Given the description of an element on the screen output the (x, y) to click on. 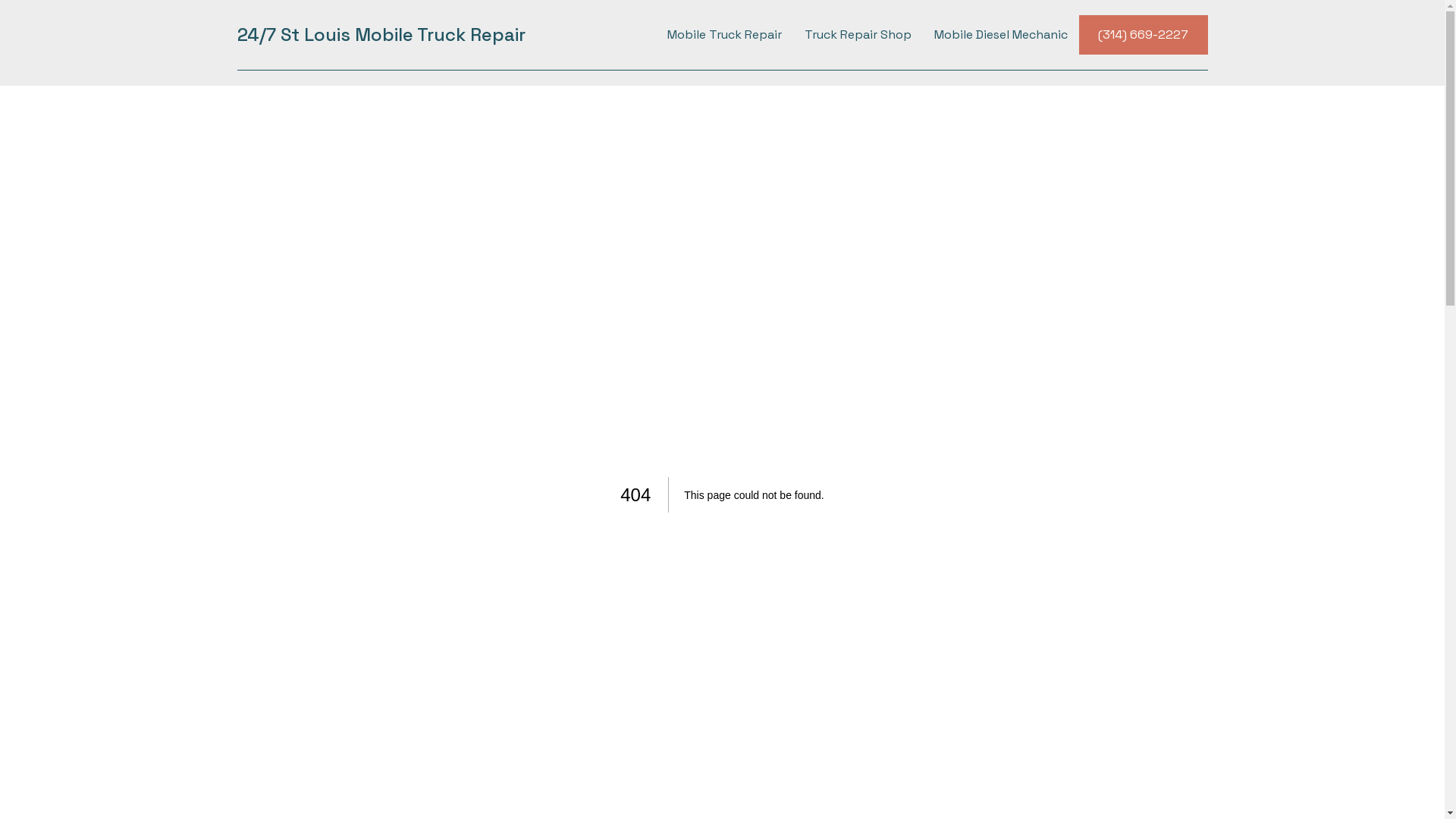
(314) 669-2227 Element type: text (1142, 34)
Mobile Truck Repair Element type: text (723, 34)
24/7 St Louis Mobile Truck Repair Element type: text (380, 34)
Mobile Diesel Mechanic Element type: text (1000, 34)
Truck Repair Shop Element type: text (857, 34)
